Given the description of an element on the screen output the (x, y) to click on. 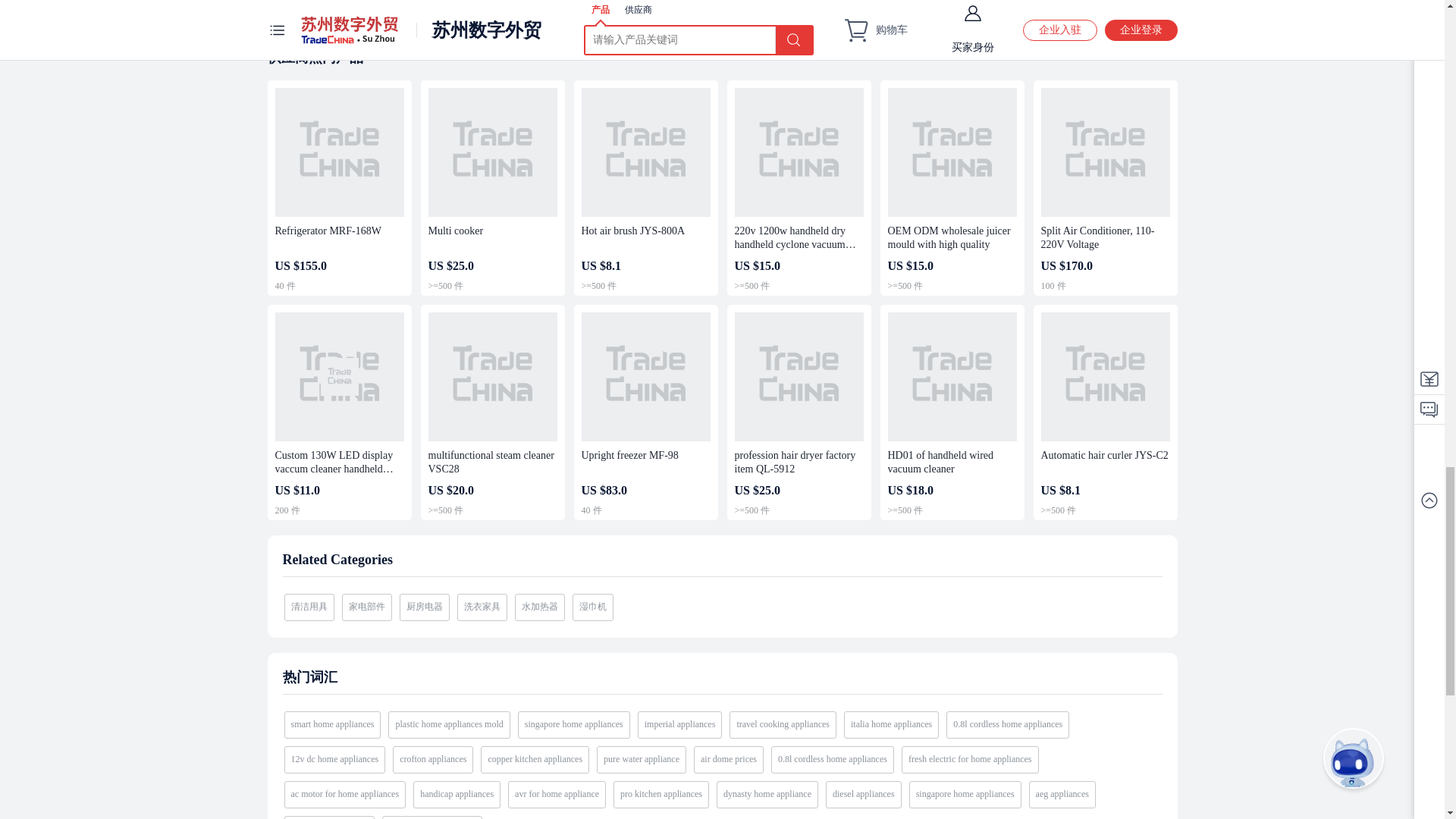
220v 1200w handheld dry handheld cyclone vacuum cleaner (798, 237)
Multi cooker (492, 237)
Multi cooker (492, 237)
Refrigerator MRF-168W (339, 152)
Refrigerator MRF-168W (339, 237)
Hot air brush JYS-800A (645, 152)
Hot air brush JYS-800A (645, 237)
Refrigerator MRF-168W (339, 237)
Multi cooker (492, 152)
